Given the description of an element on the screen output the (x, y) to click on. 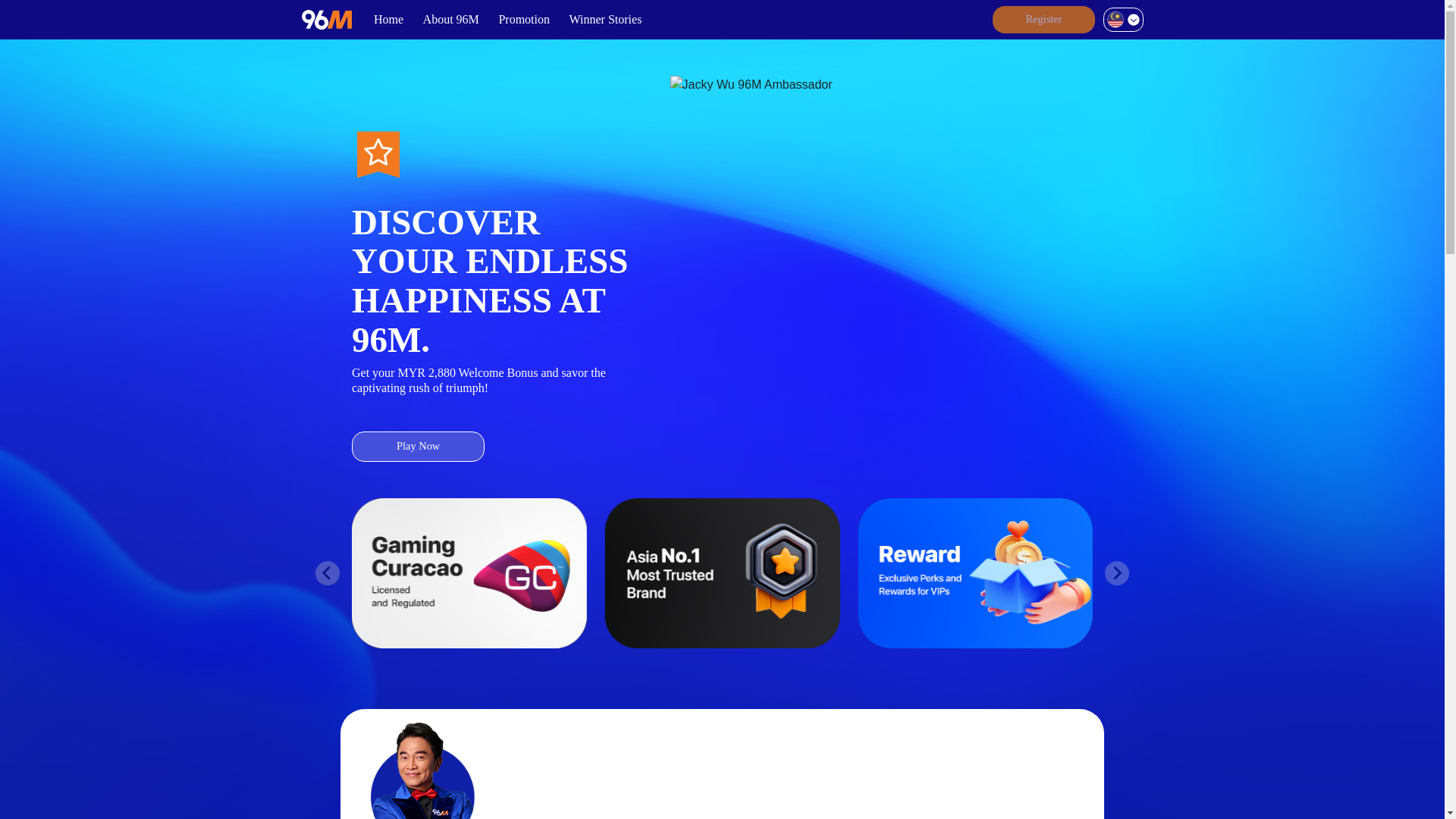
Winner Stories (604, 19)
Home (388, 19)
Promotion (524, 19)
About 96M (451, 19)
Play Now (418, 446)
Register (1044, 19)
